Given the description of an element on the screen output the (x, y) to click on. 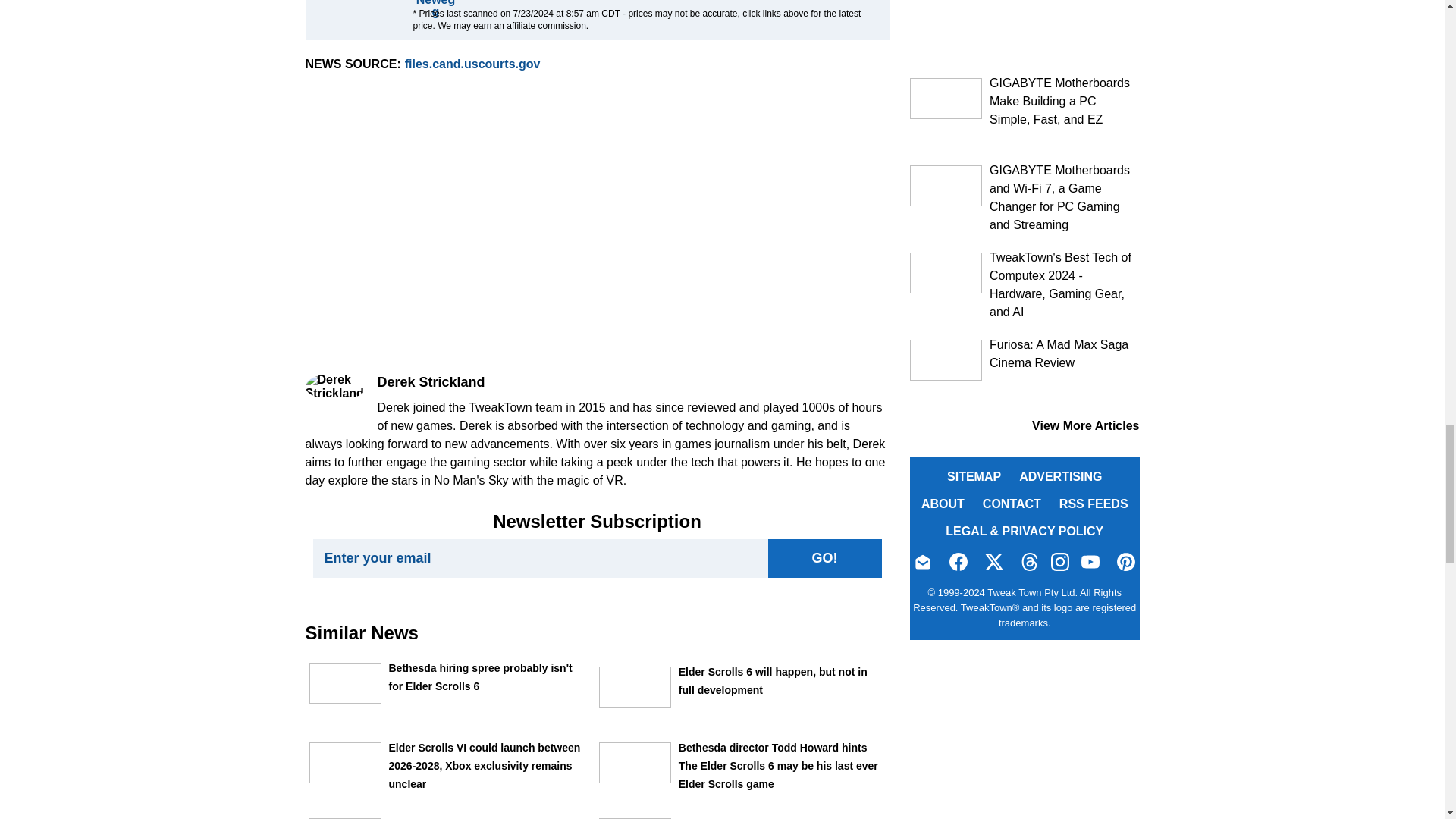
GO! (823, 558)
